Given the description of an element on the screen output the (x, y) to click on. 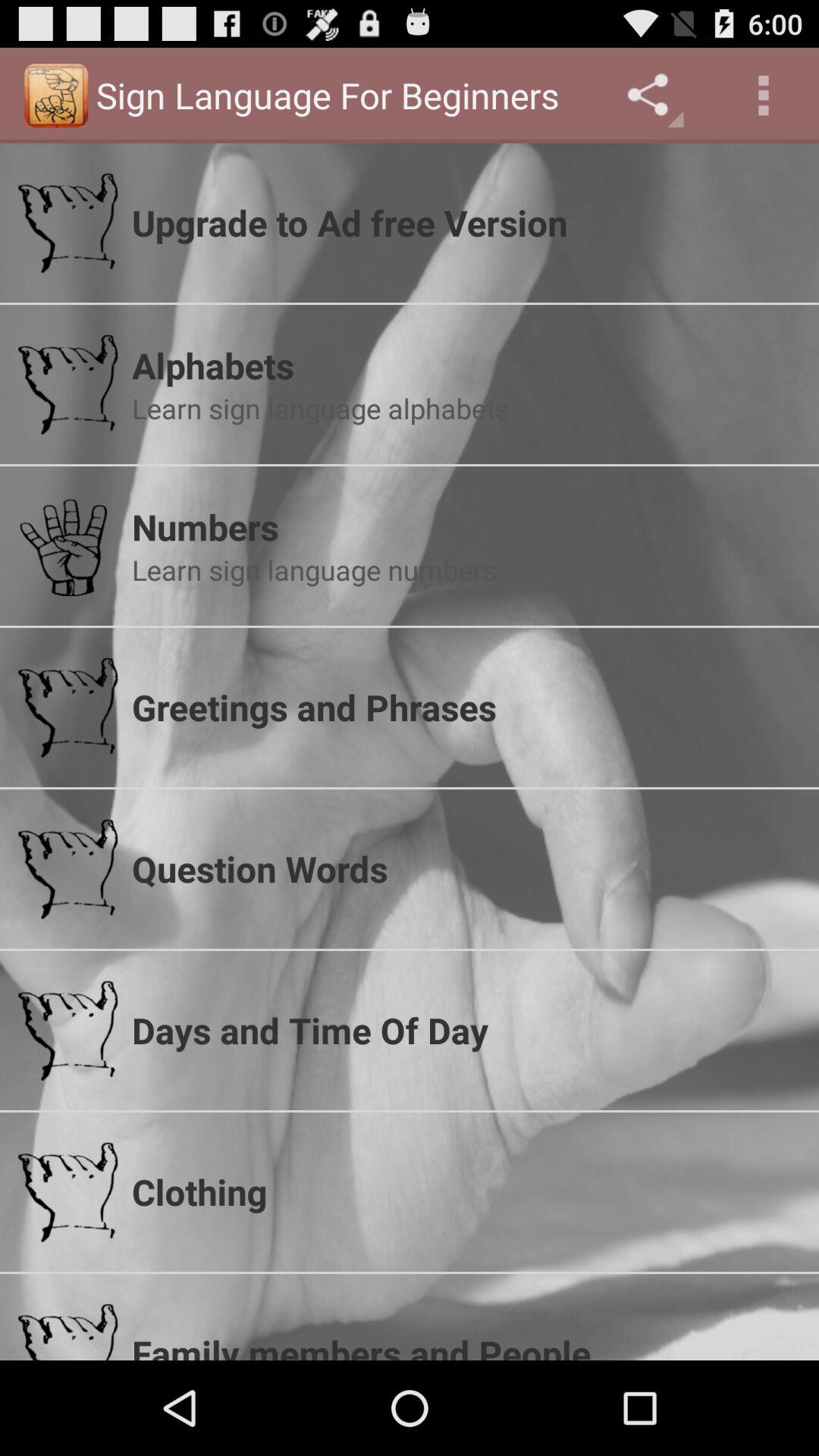
scroll to days and time icon (465, 1030)
